Given the description of an element on the screen output the (x, y) to click on. 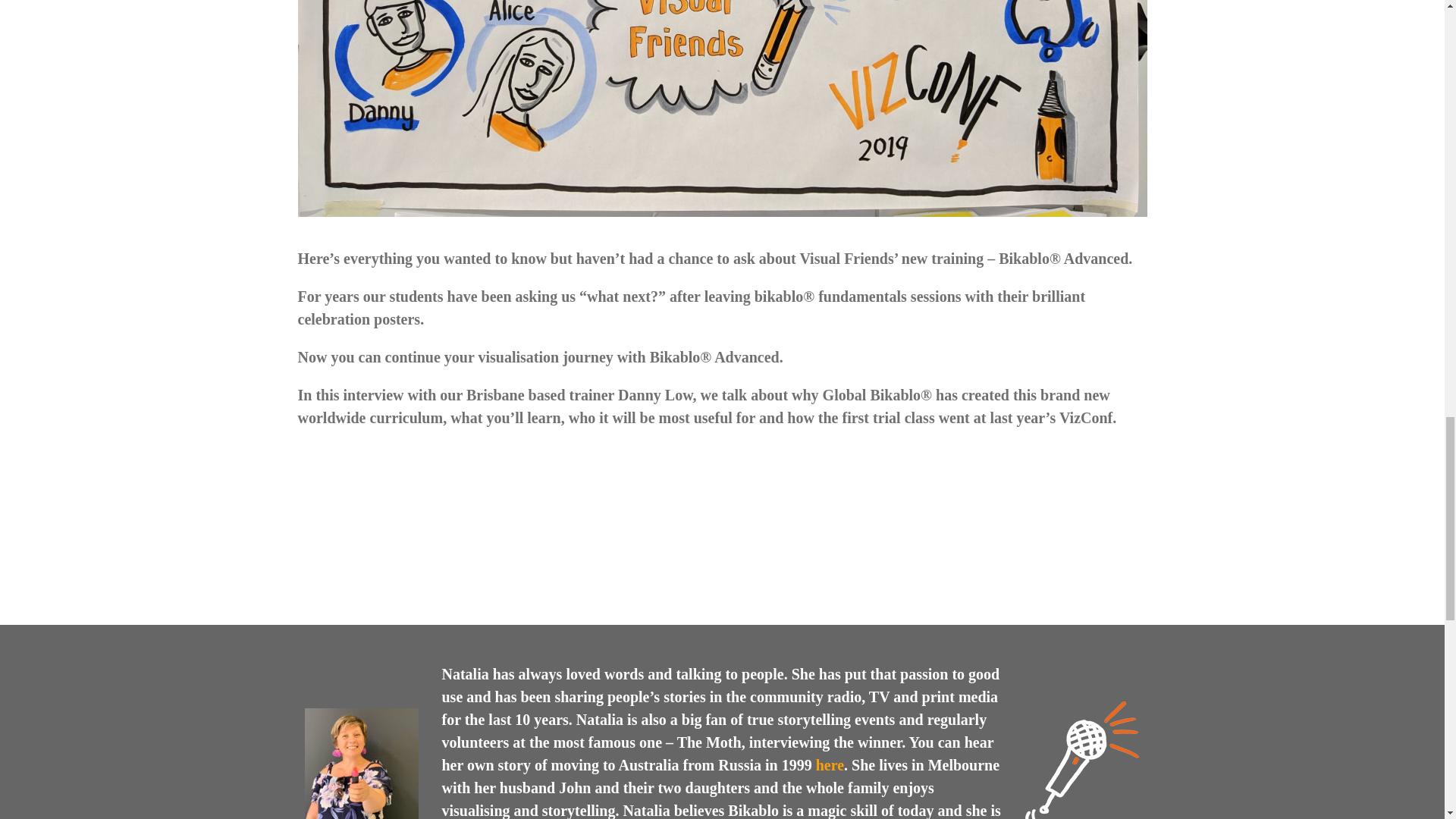
here (829, 764)
